Given the description of an element on the screen output the (x, y) to click on. 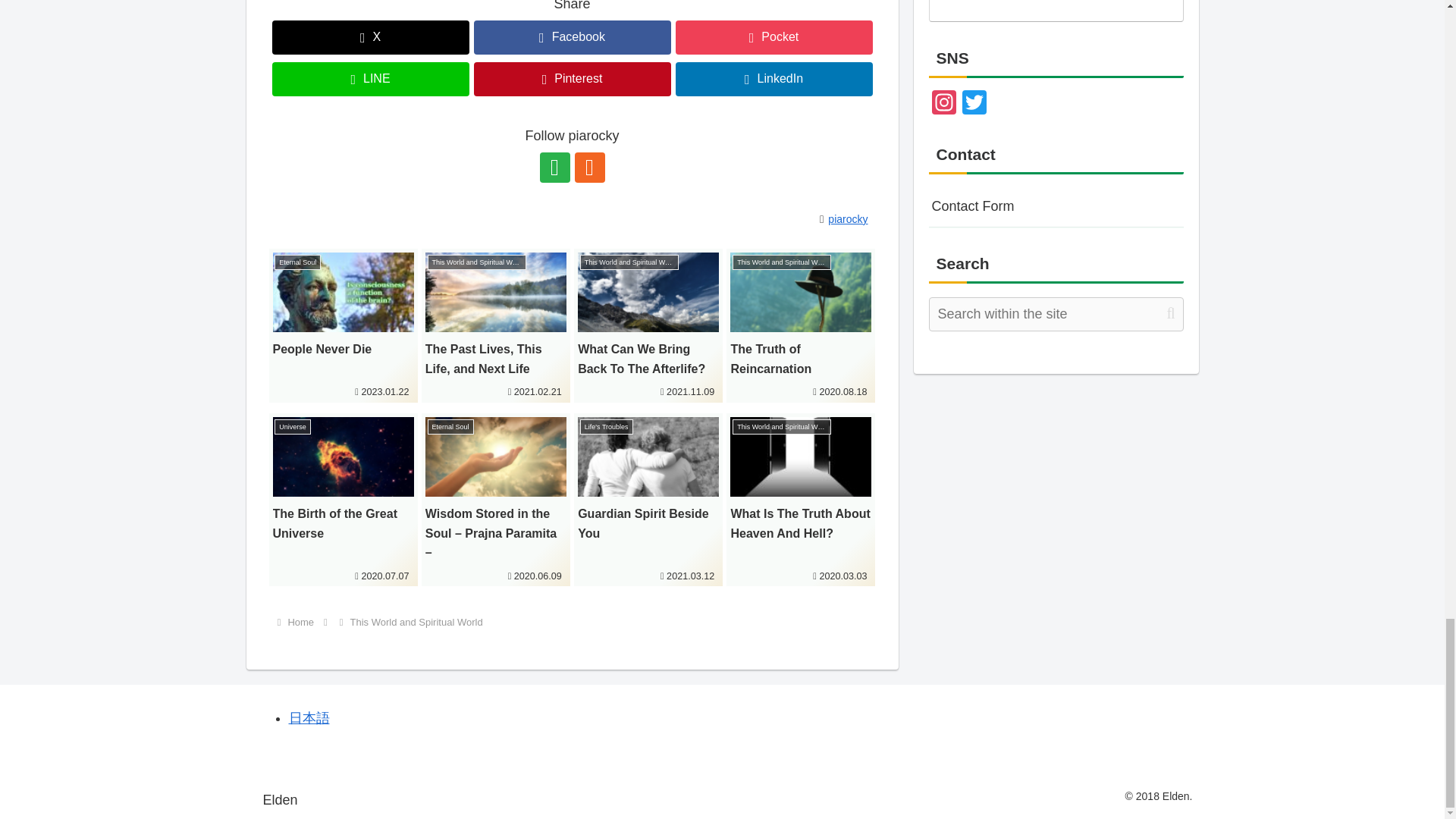
Save to Pocket (773, 37)
Share on LINE (369, 79)
Pinterest (571, 79)
The Past Lives, This Life, and Next Life (496, 325)
What Can We Bring Back To The Afterlife? (647, 325)
piarocky (851, 218)
Share on X (369, 37)
Subscribe updates by RSS (590, 167)
Share on LinkedIn (773, 79)
X (369, 37)
Share on Pinterest (571, 79)
LinkedIn (773, 79)
Pocket (773, 37)
